Given the description of an element on the screen output the (x, y) to click on. 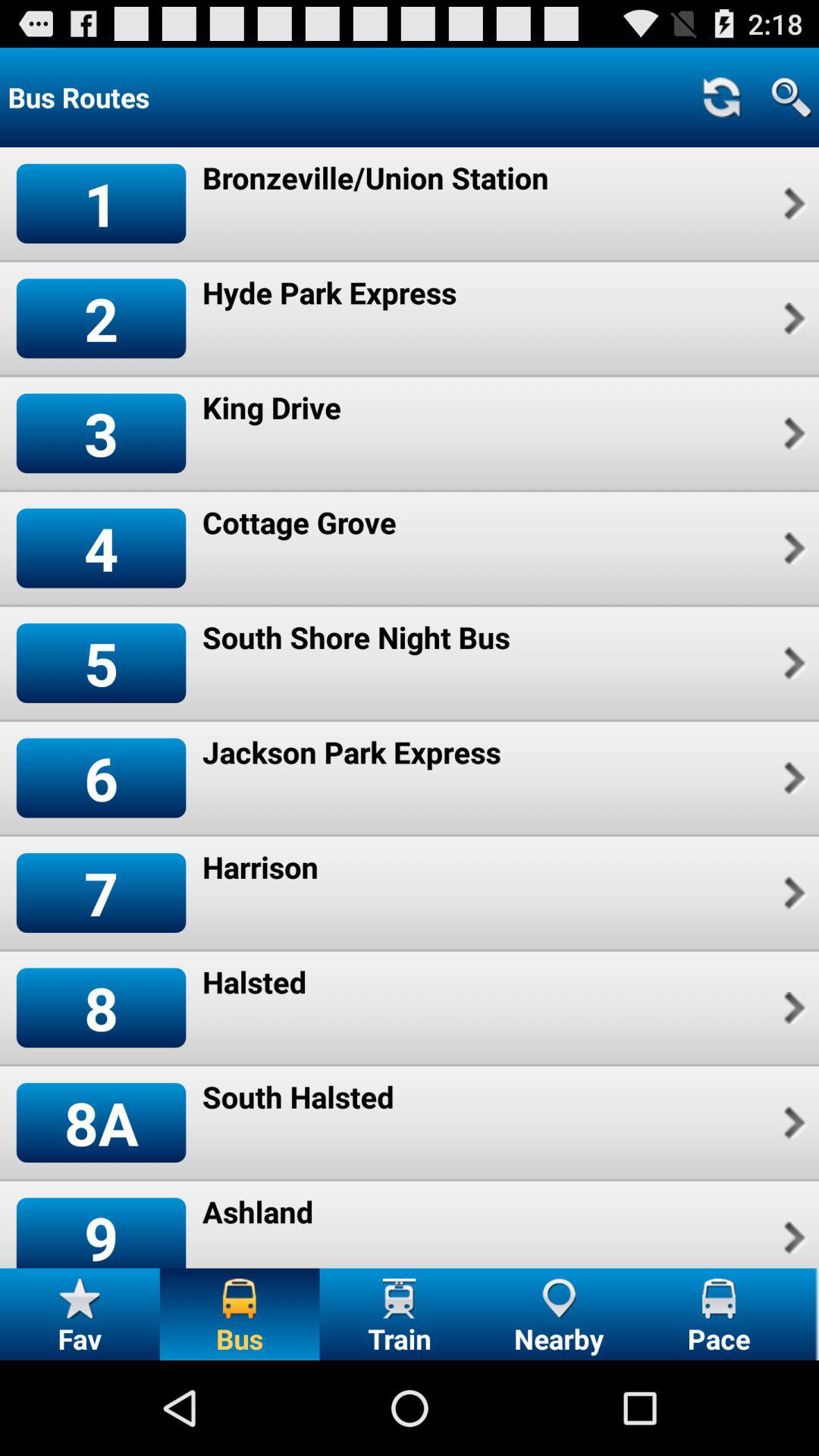
open the icon above hyde park express icon (375, 177)
